Given the description of an element on the screen output the (x, y) to click on. 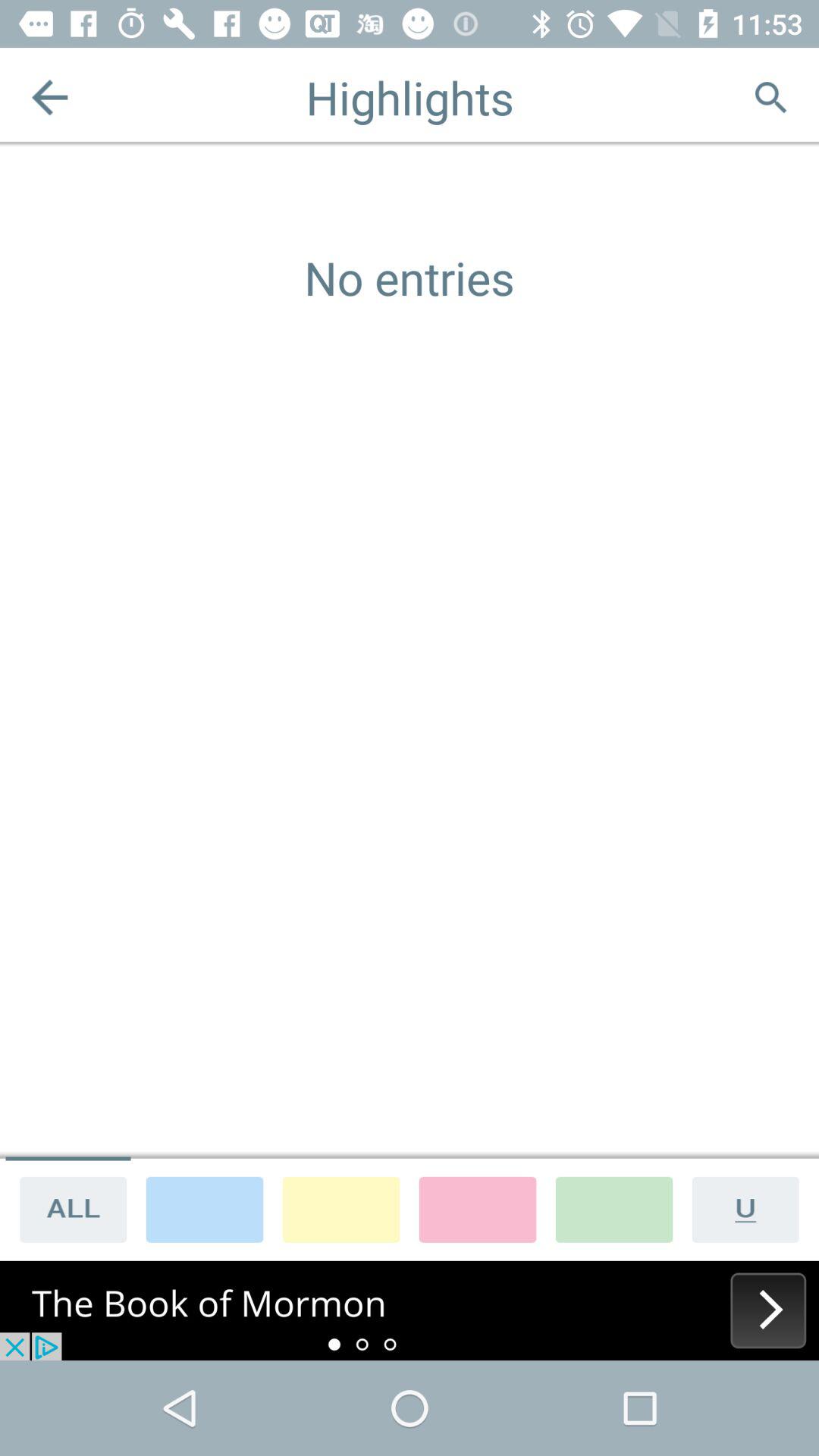
choose yellow as background color (341, 1208)
